Given the description of an element on the screen output the (x, y) to click on. 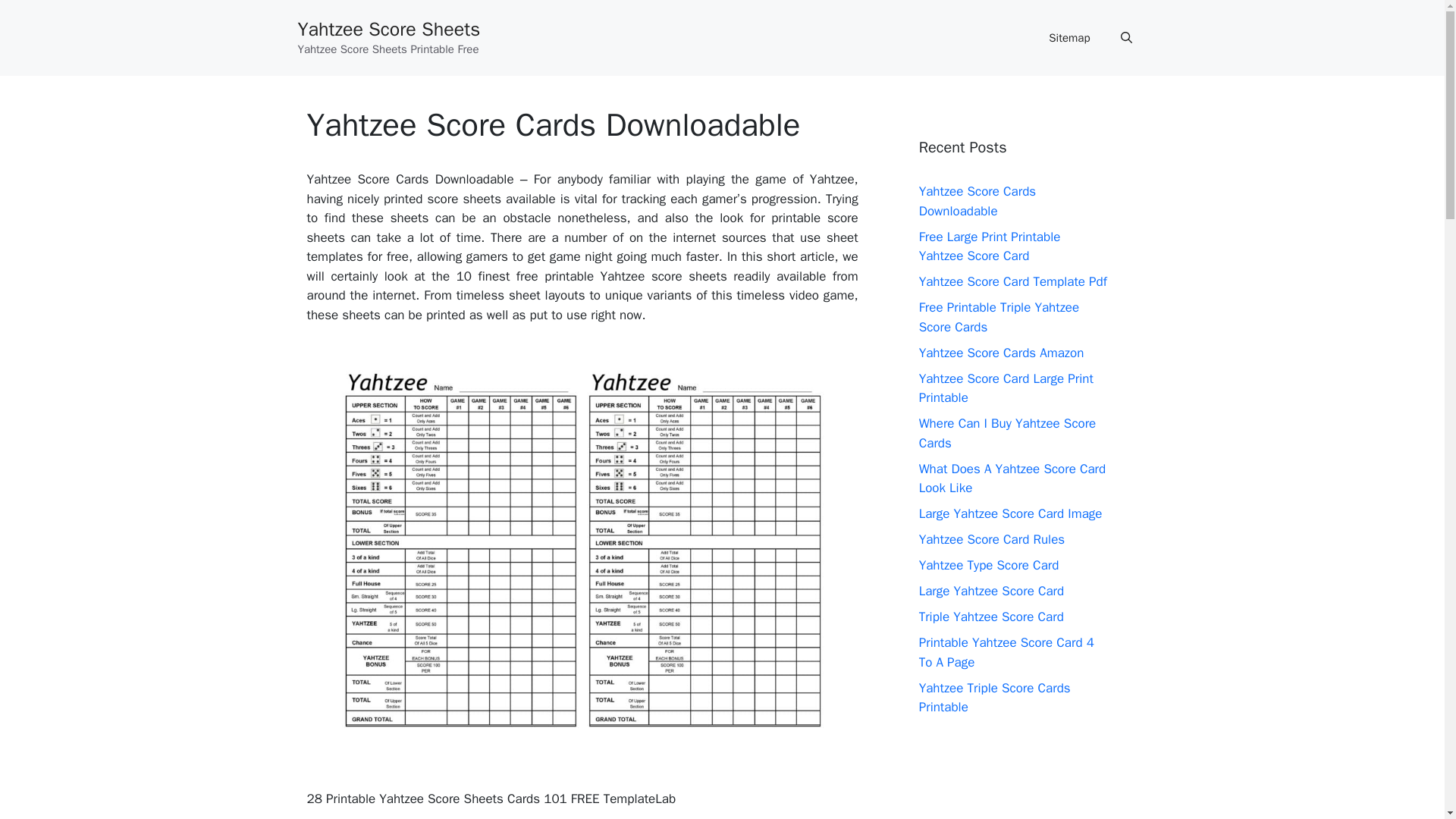
Yahtzee Score Card Large Print Printable (1005, 387)
Sitemap (1069, 37)
Free Printable Triple Yahtzee Score Cards (999, 316)
Large Yahtzee Score Card (991, 590)
What Does A Yahtzee Score Card Look Like (1012, 478)
Yahtzee Score Cards Amazon (1001, 351)
Yahtzee Type Score Card (988, 565)
Yahtzee Score Sheets (388, 28)
Large Yahtzee Score Card Image (1010, 513)
Where Can I Buy Yahtzee Score Cards (1007, 433)
Yahtzee Score Cards Downloadable (976, 201)
Free Large Print Printable Yahtzee Score Card (989, 246)
Yahtzee Score Card Rules (991, 539)
Triple Yahtzee Score Card (991, 616)
